Given the description of an element on the screen output the (x, y) to click on. 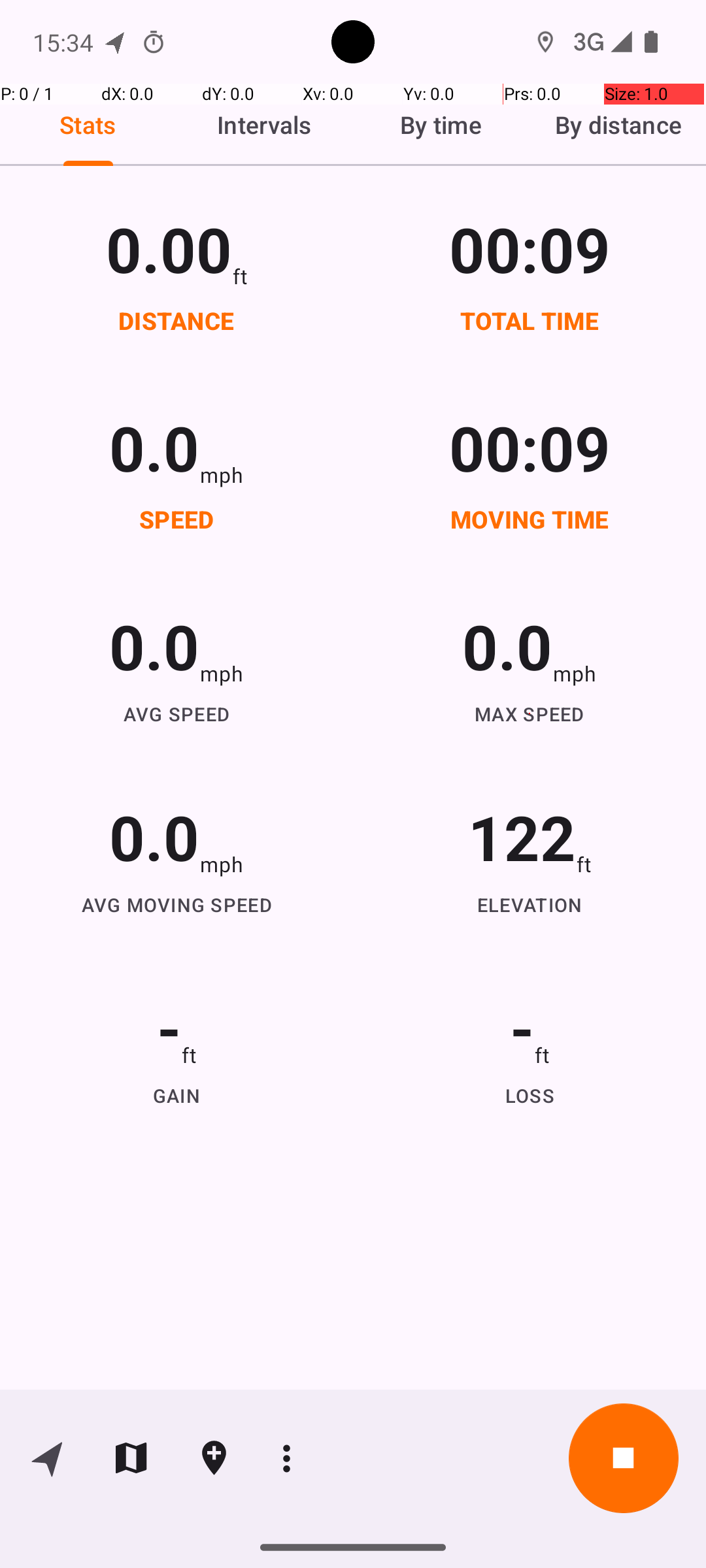
00:09 Element type: android.widget.TextView (529, 248)
122 Element type: android.widget.TextView (521, 836)
